Given the description of an element on the screen output the (x, y) to click on. 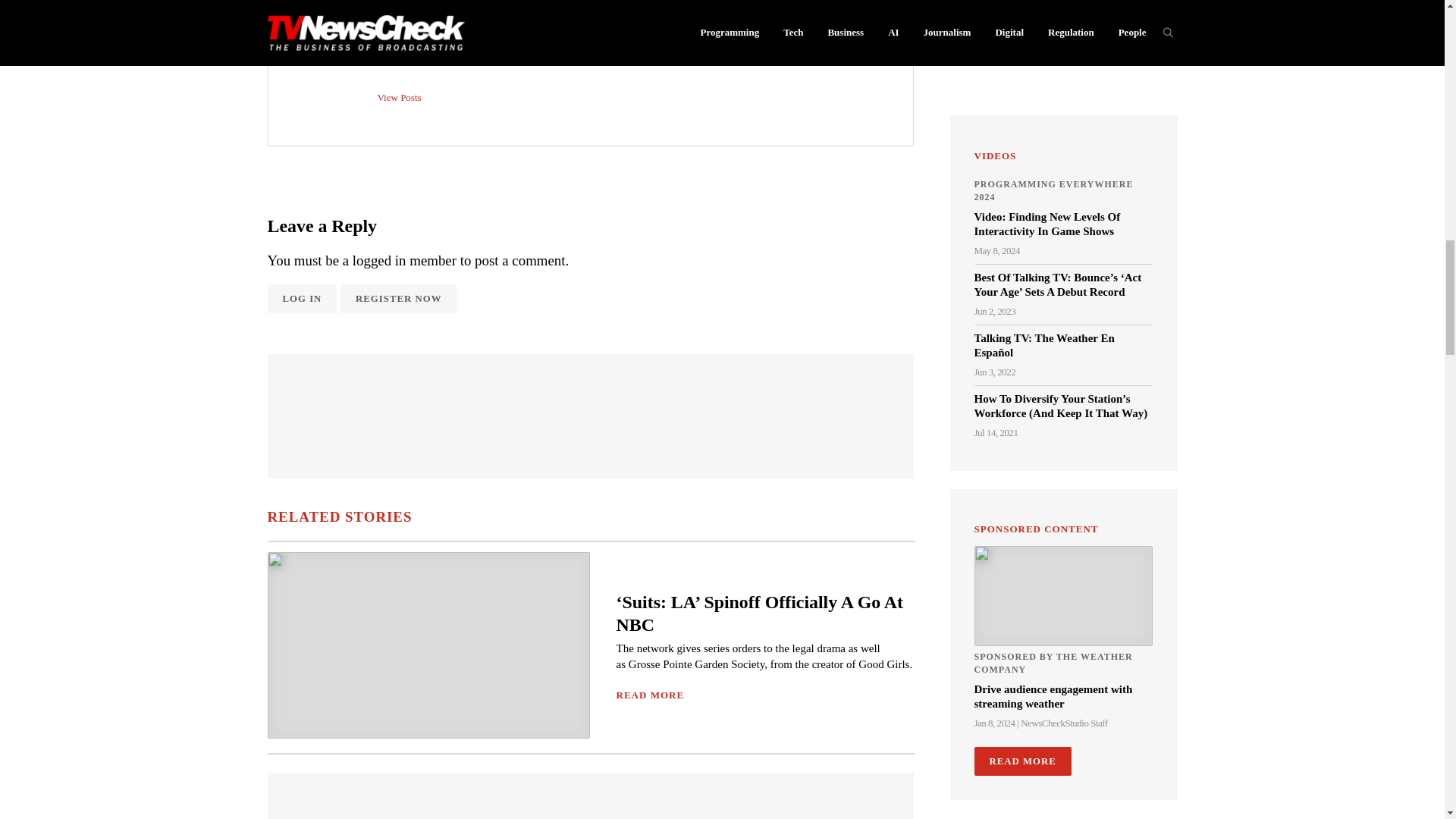
Register Now (398, 298)
Log In (301, 298)
